Given the description of an element on the screen output the (x, y) to click on. 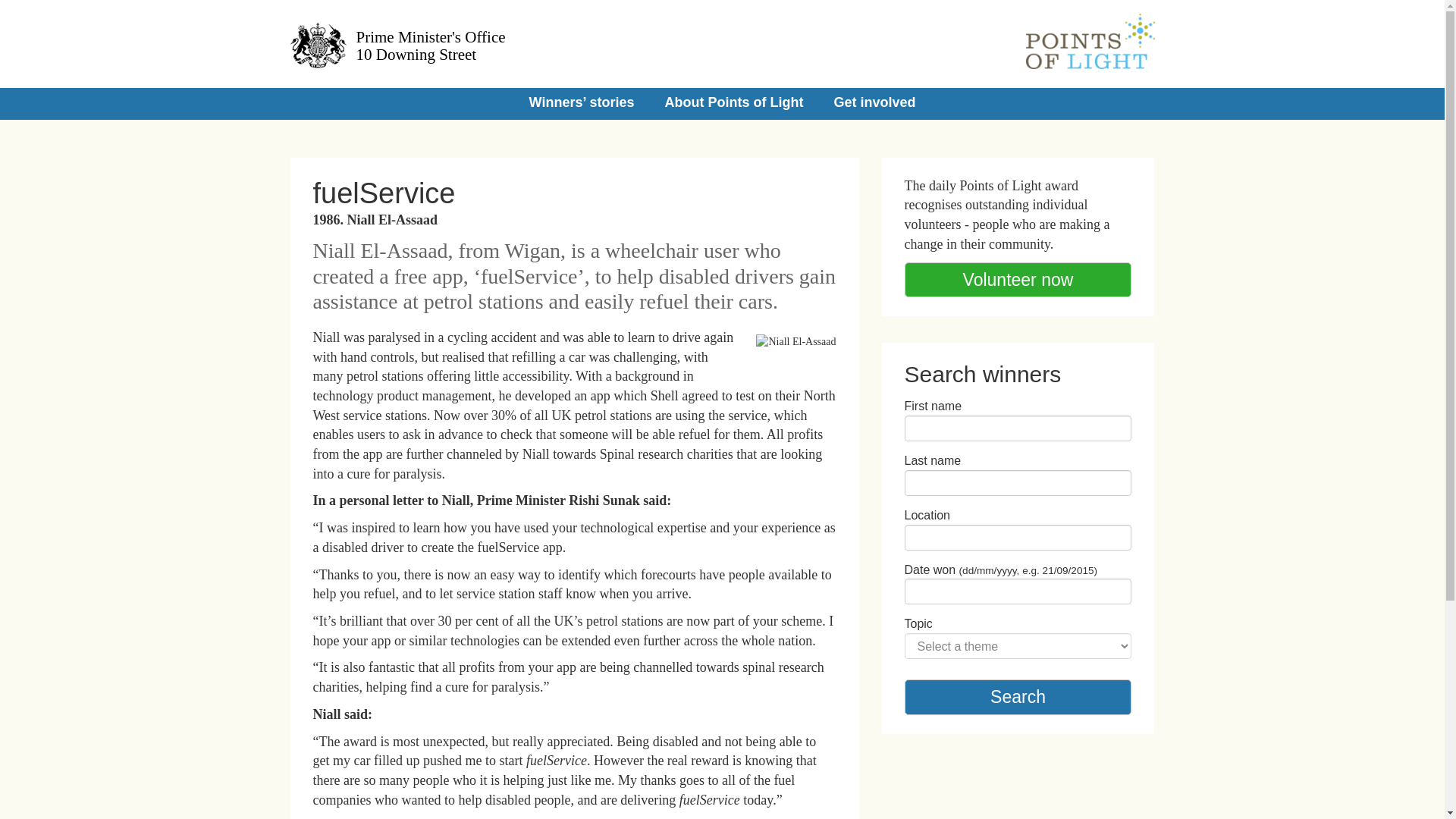
Volunteer now (1017, 280)
Search (1017, 696)
About Points of Light (499, 42)
Search (733, 102)
Get involved (1017, 696)
